Given the description of an element on the screen output the (x, y) to click on. 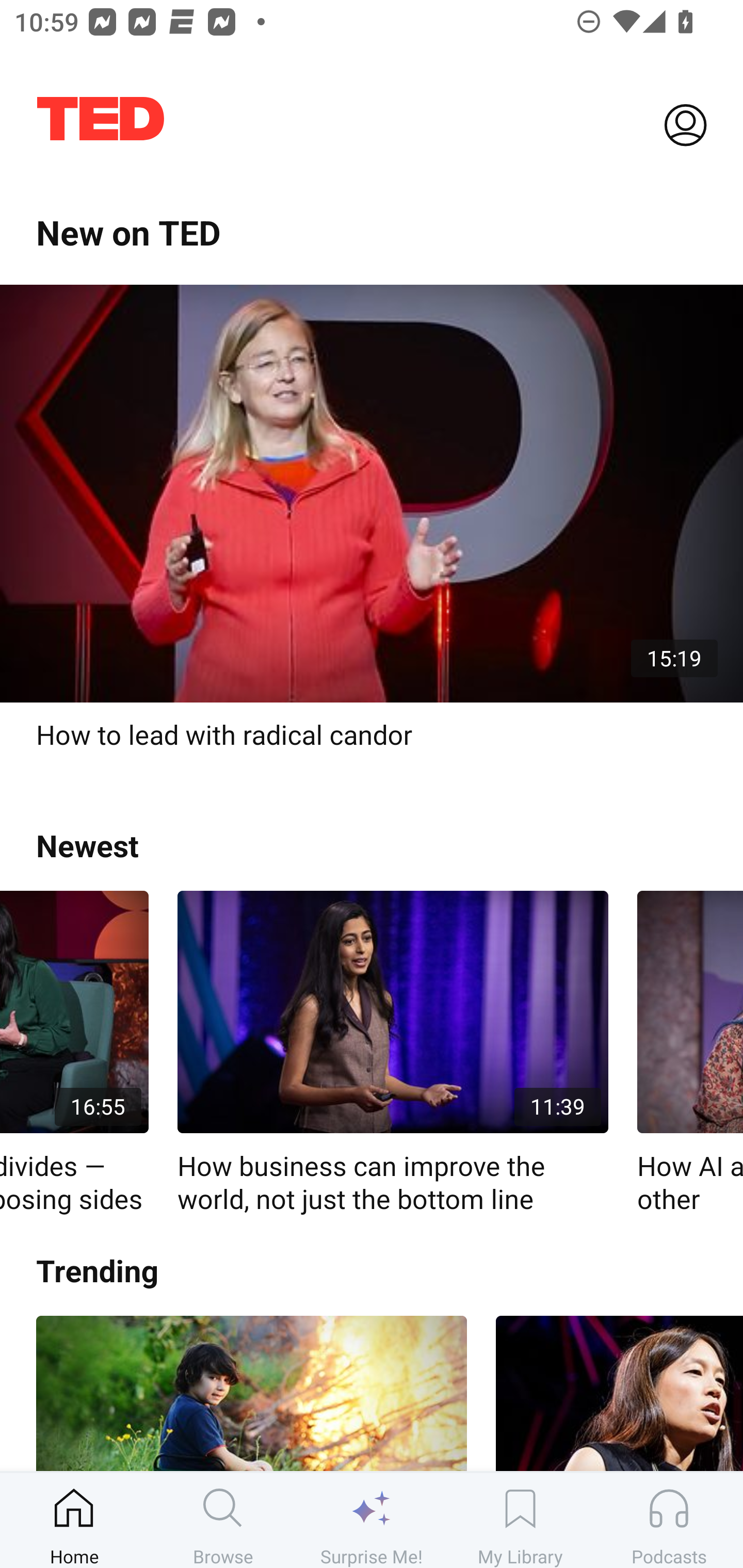
Home (74, 1520)
Browse (222, 1520)
Surprise Me! (371, 1520)
My Library (519, 1520)
Podcasts (668, 1520)
